Given the description of an element on the screen output the (x, y) to click on. 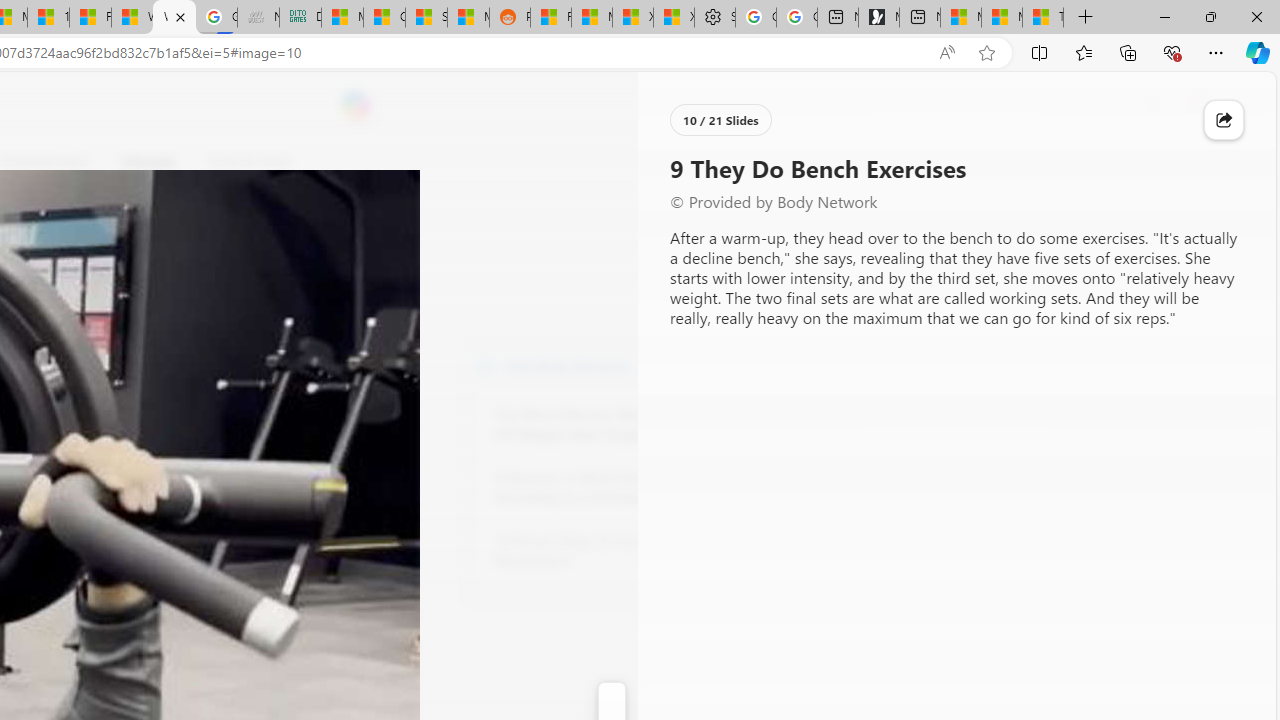
Go to publisher's site (180, 258)
R******* | Trusted Community Engagement and Contributions (550, 17)
Fitness - MSN (90, 17)
12 Proven Ways To Increase Your Metabolism (603, 550)
